Given the description of an element on the screen output the (x, y) to click on. 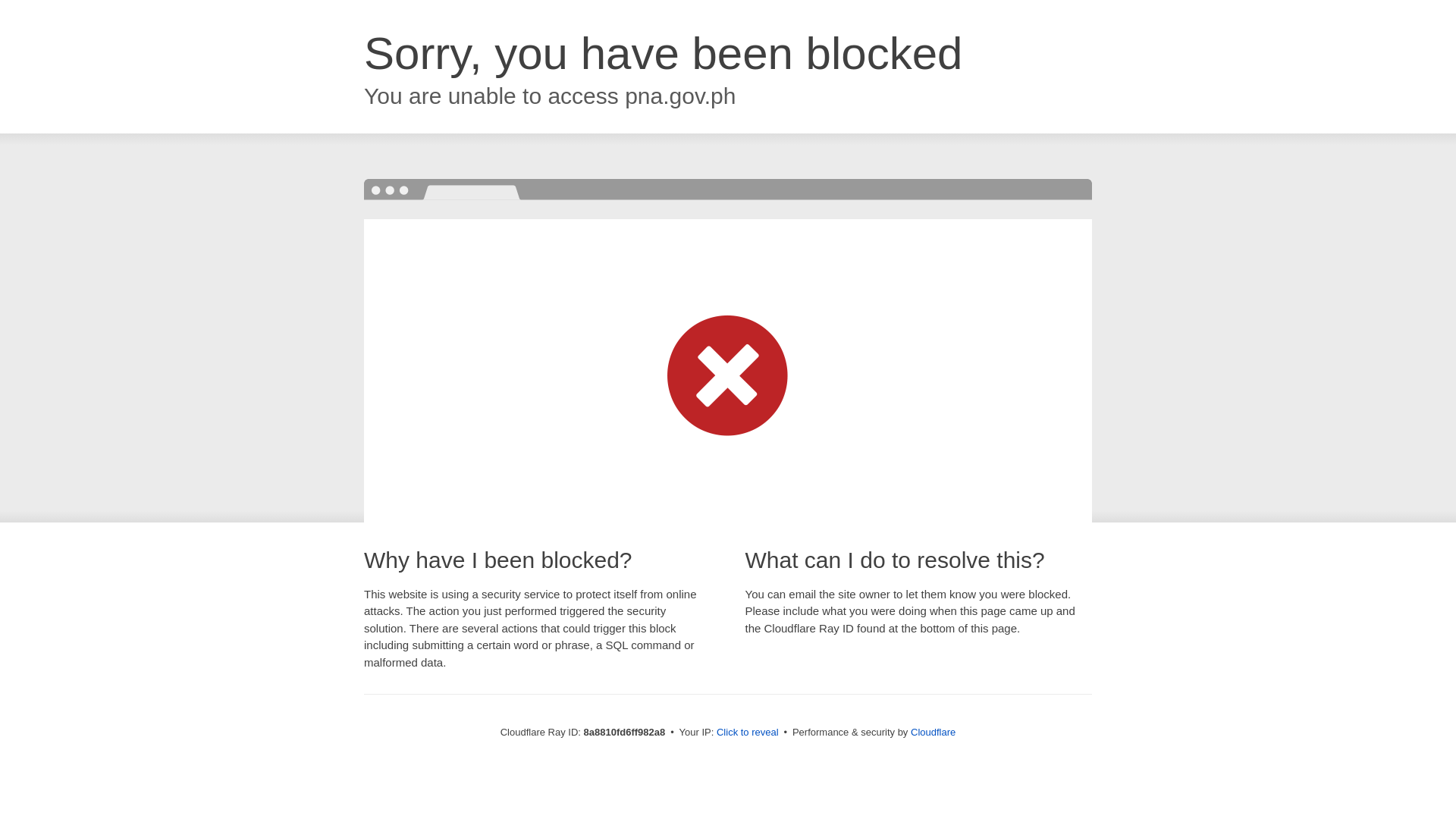
Cloudflare (933, 731)
Click to reveal (747, 732)
